Given the description of an element on the screen output the (x, y) to click on. 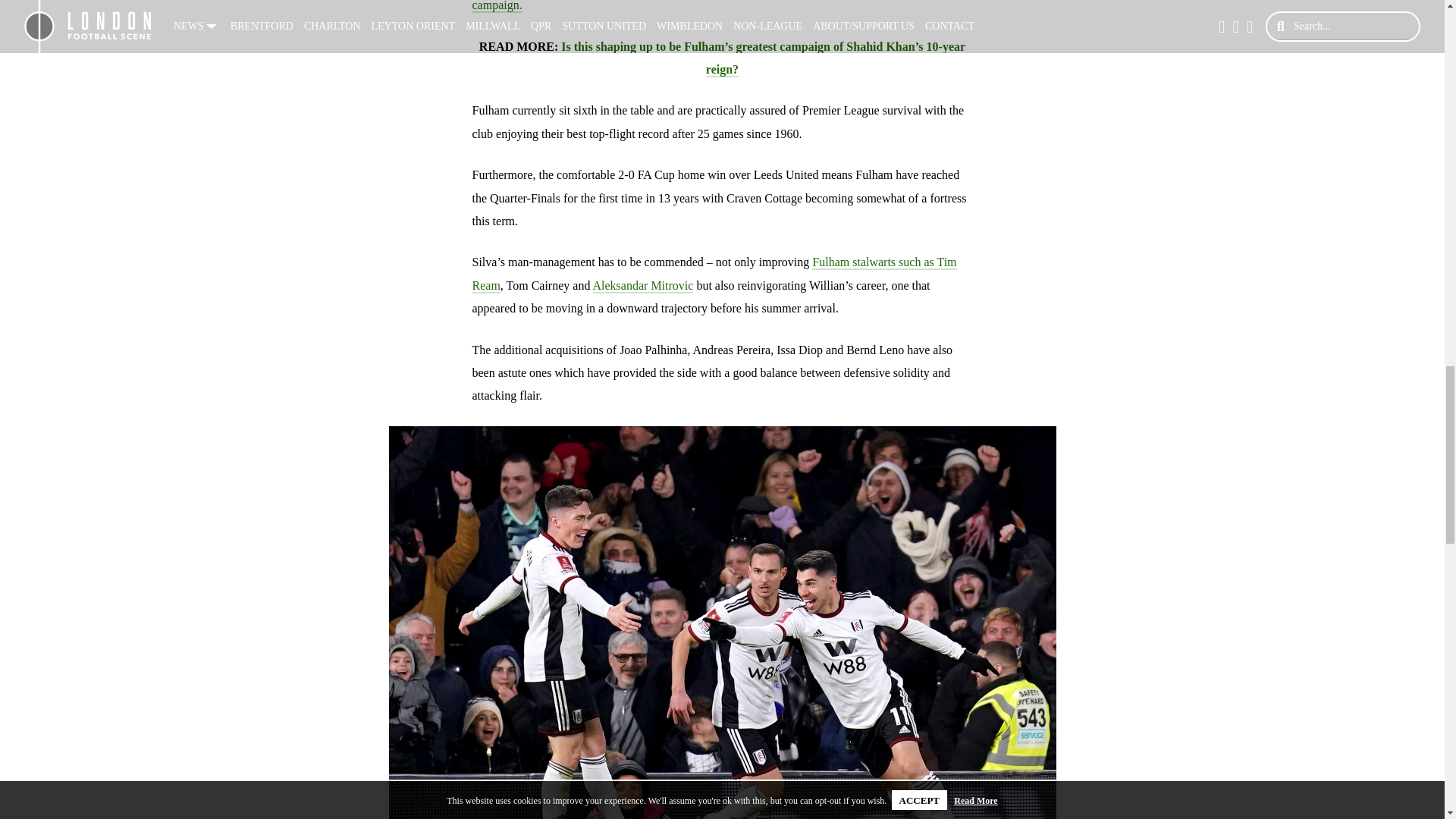
Aleksandar Mitrovic (643, 286)
Fulham stalwarts such as Tim Ream (713, 273)
